Given the description of an element on the screen output the (x, y) to click on. 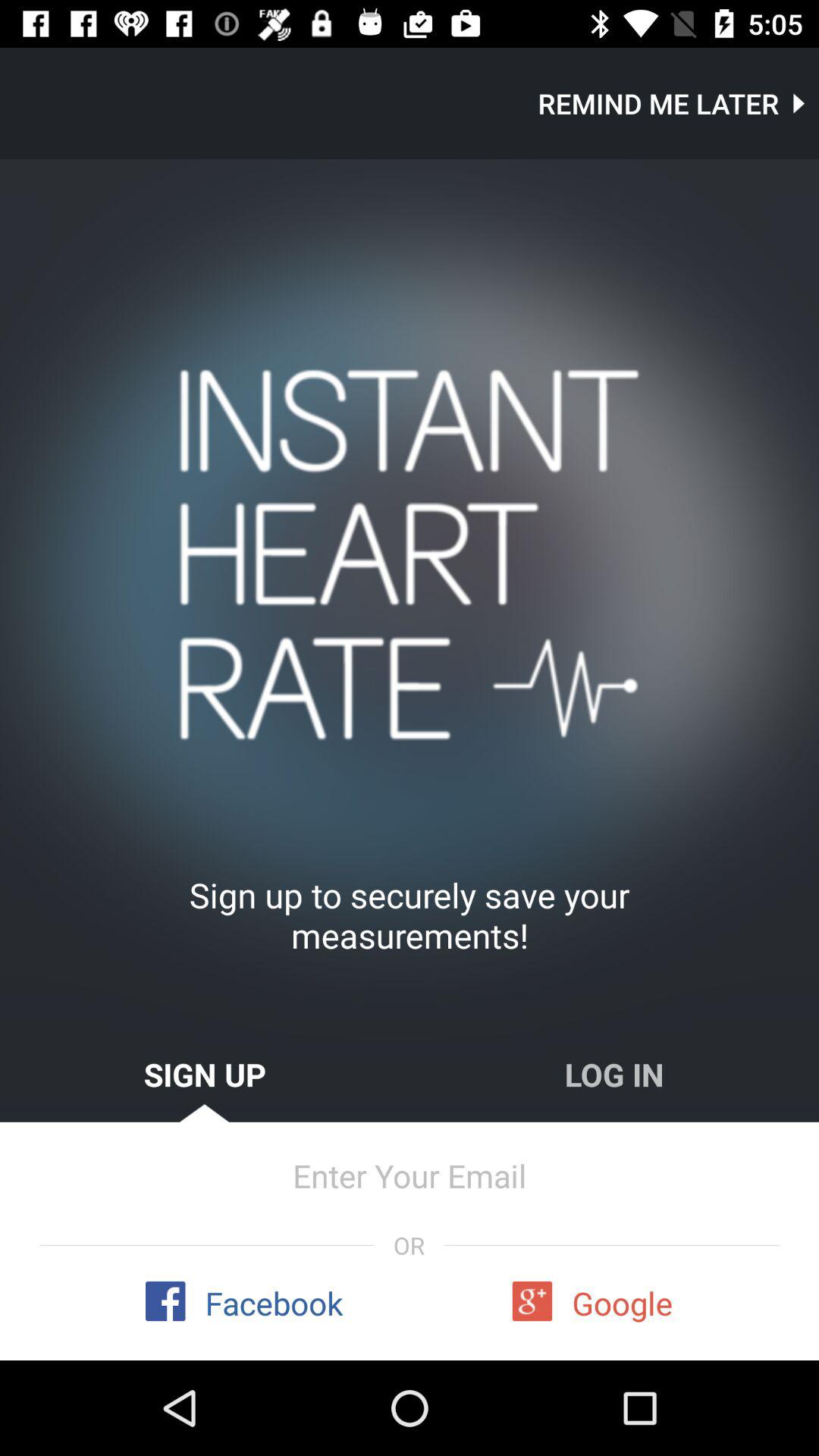
turn off the icon to the right of sign up (614, 1074)
